Given the description of an element on the screen output the (x, y) to click on. 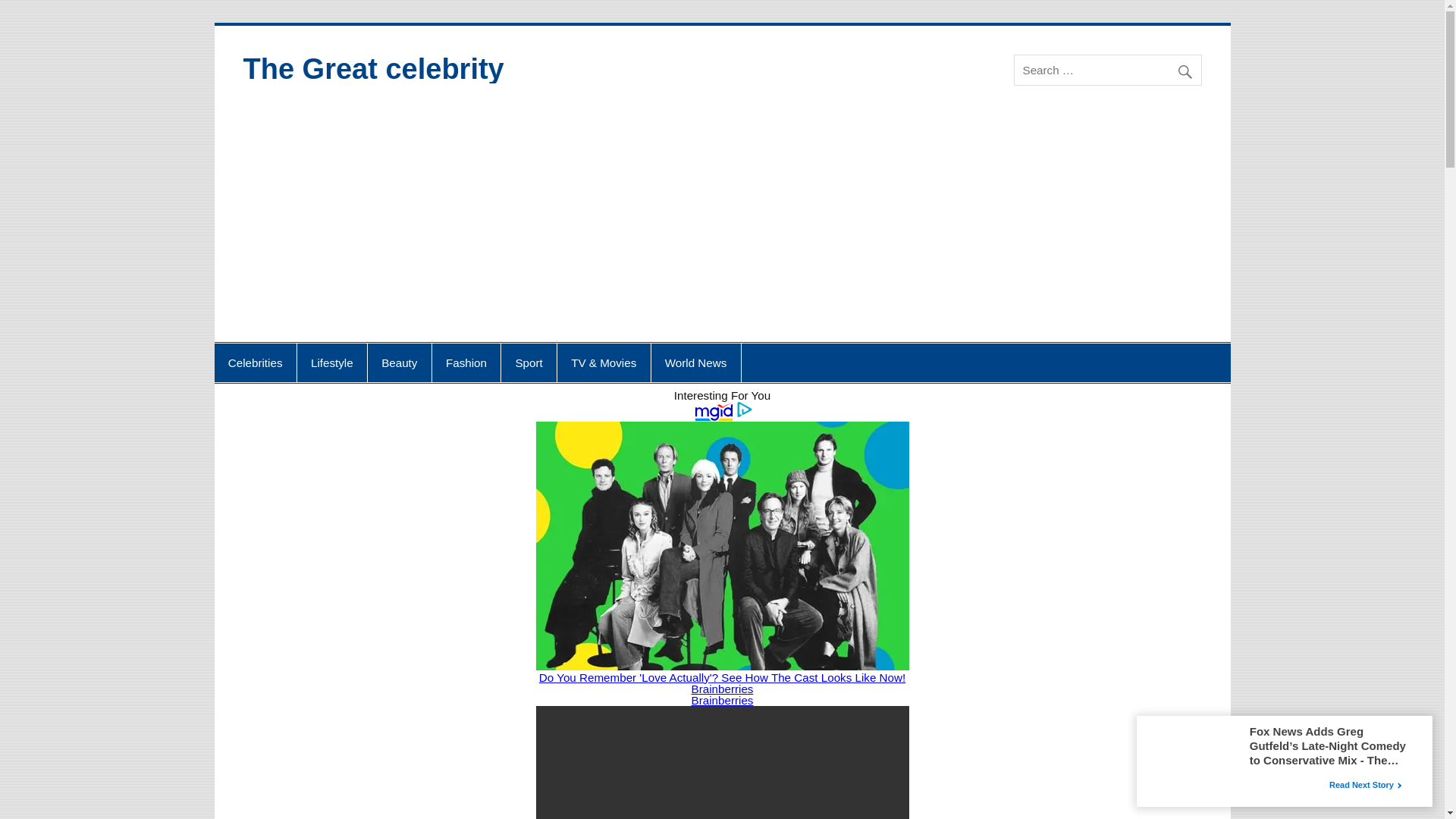
World News (695, 363)
Lifestyle (331, 363)
Celebrities (254, 363)
The Great celebrity (373, 69)
Beauty (399, 363)
Fashion (466, 363)
Sport (528, 363)
